Given the description of an element on the screen output the (x, y) to click on. 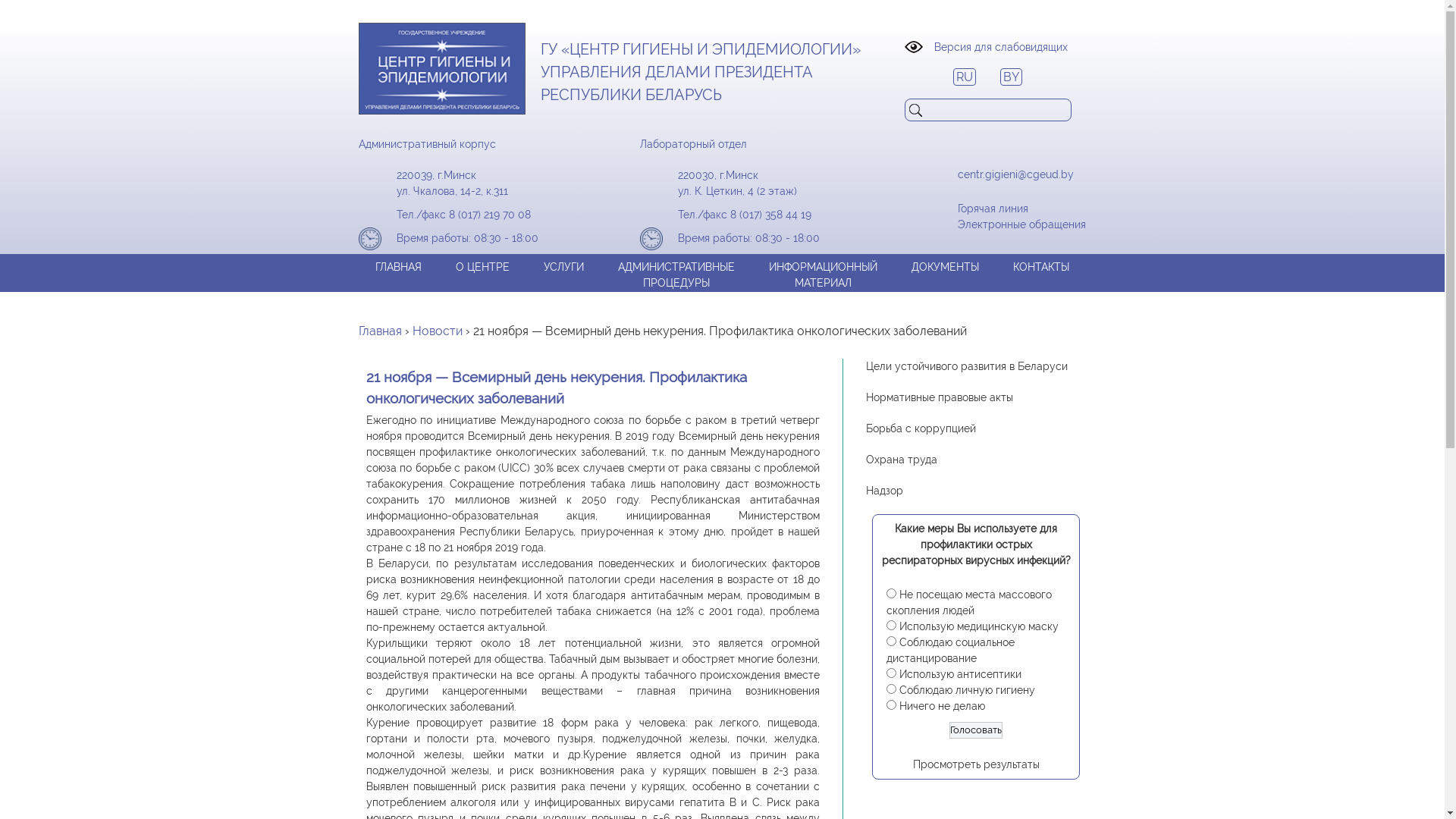
centr.gigieni@cgeud.by Element type: text (1015, 174)
RU Element type: text (963, 76)
BY Element type: text (1010, 76)
